Given the description of an element on the screen output the (x, y) to click on. 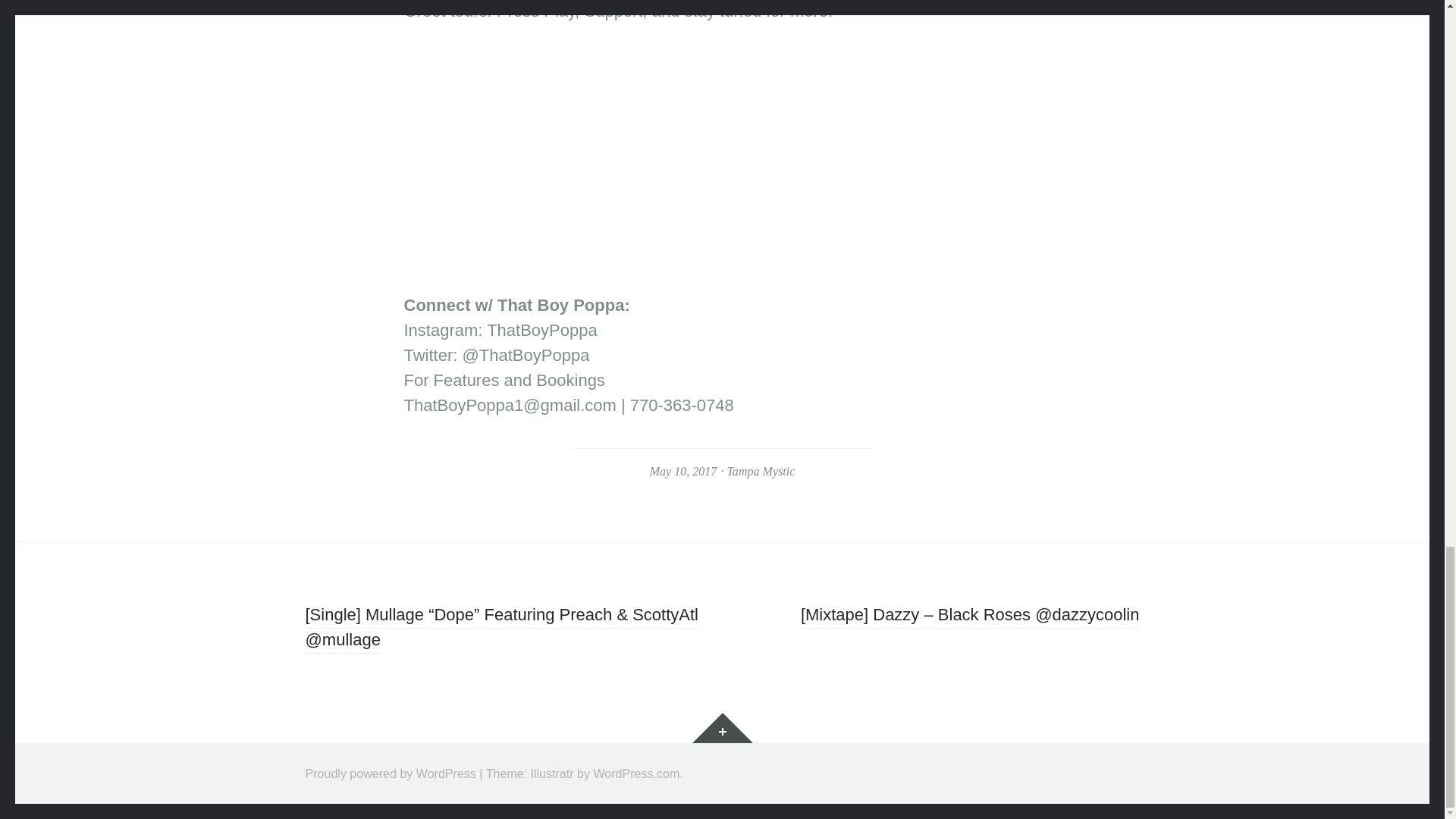
Widgets (721, 727)
May 10, 2017 (683, 471)
Tampa Mystic (760, 471)
